Given the description of an element on the screen output the (x, y) to click on. 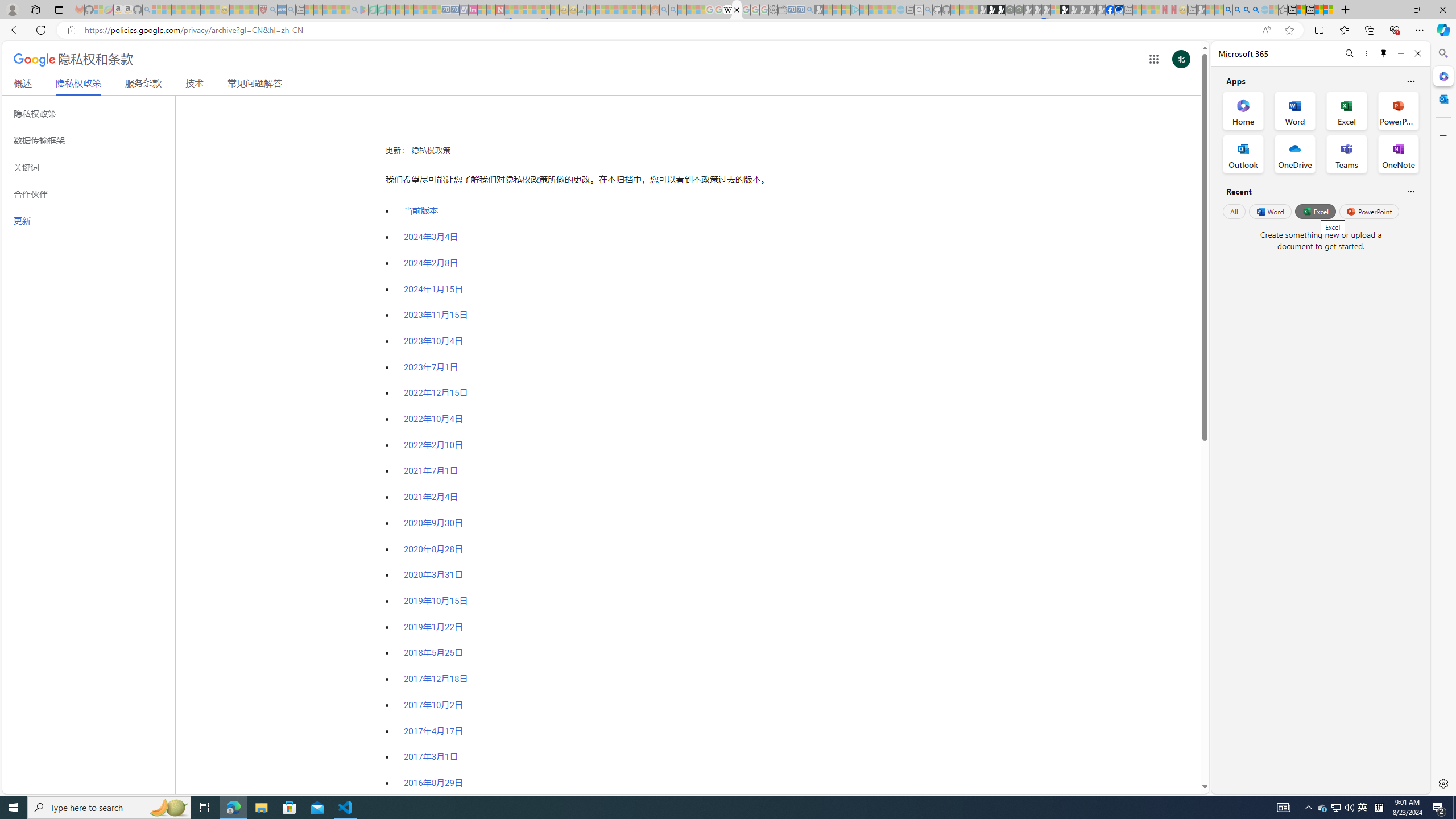
Home | Sky Blue Bikes - Sky Blue Bikes - Sleeping (900, 9)
Target page - Wikipedia (726, 9)
Pets - MSN - Sleeping (336, 9)
google - Search - Sleeping (354, 9)
